Given the description of an element on the screen output the (x, y) to click on. 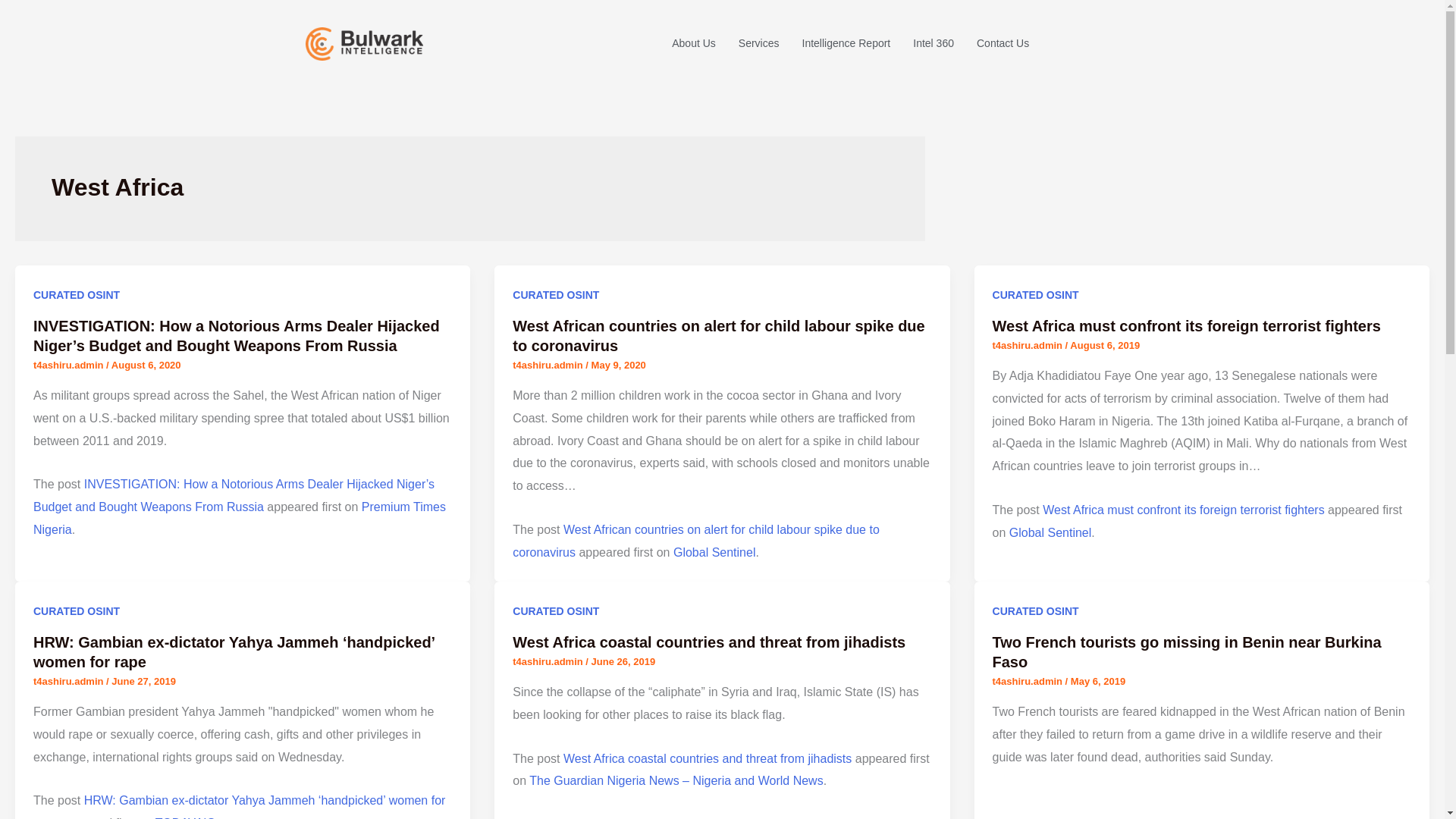
CURATED OSINT (76, 295)
Intel 360 (921, 44)
t4ashiru.admin (69, 681)
About Us (682, 44)
t4ashiru.admin (1028, 345)
View all posts by t4ashiru.admin (69, 365)
t4ashiru.admin (69, 365)
TODAY.NG (185, 817)
